Given the description of an element on the screen output the (x, y) to click on. 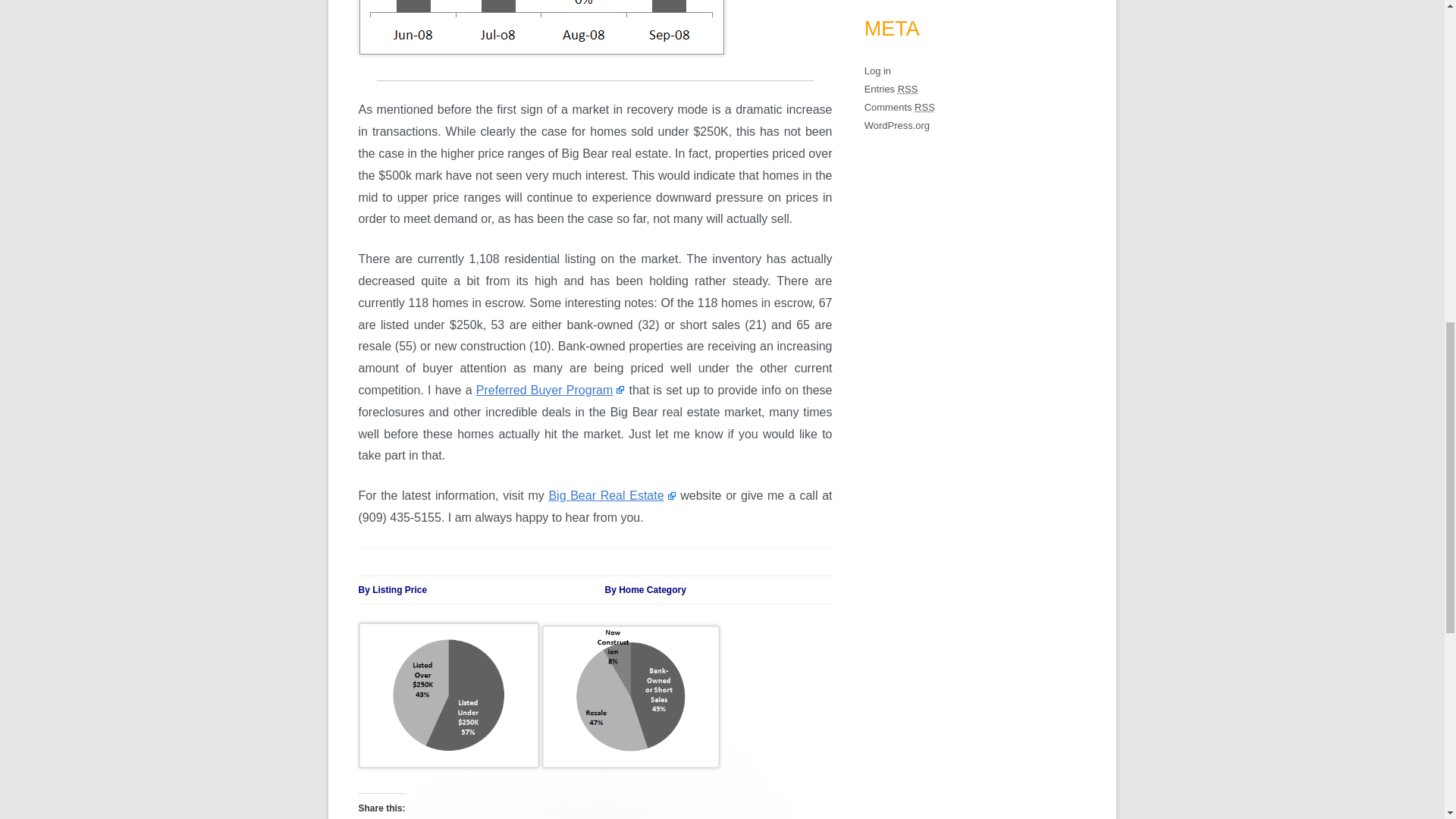
Big Bear Real Estate (611, 495)
Preferred Buyer Program (550, 390)
